Given the description of an element on the screen output the (x, y) to click on. 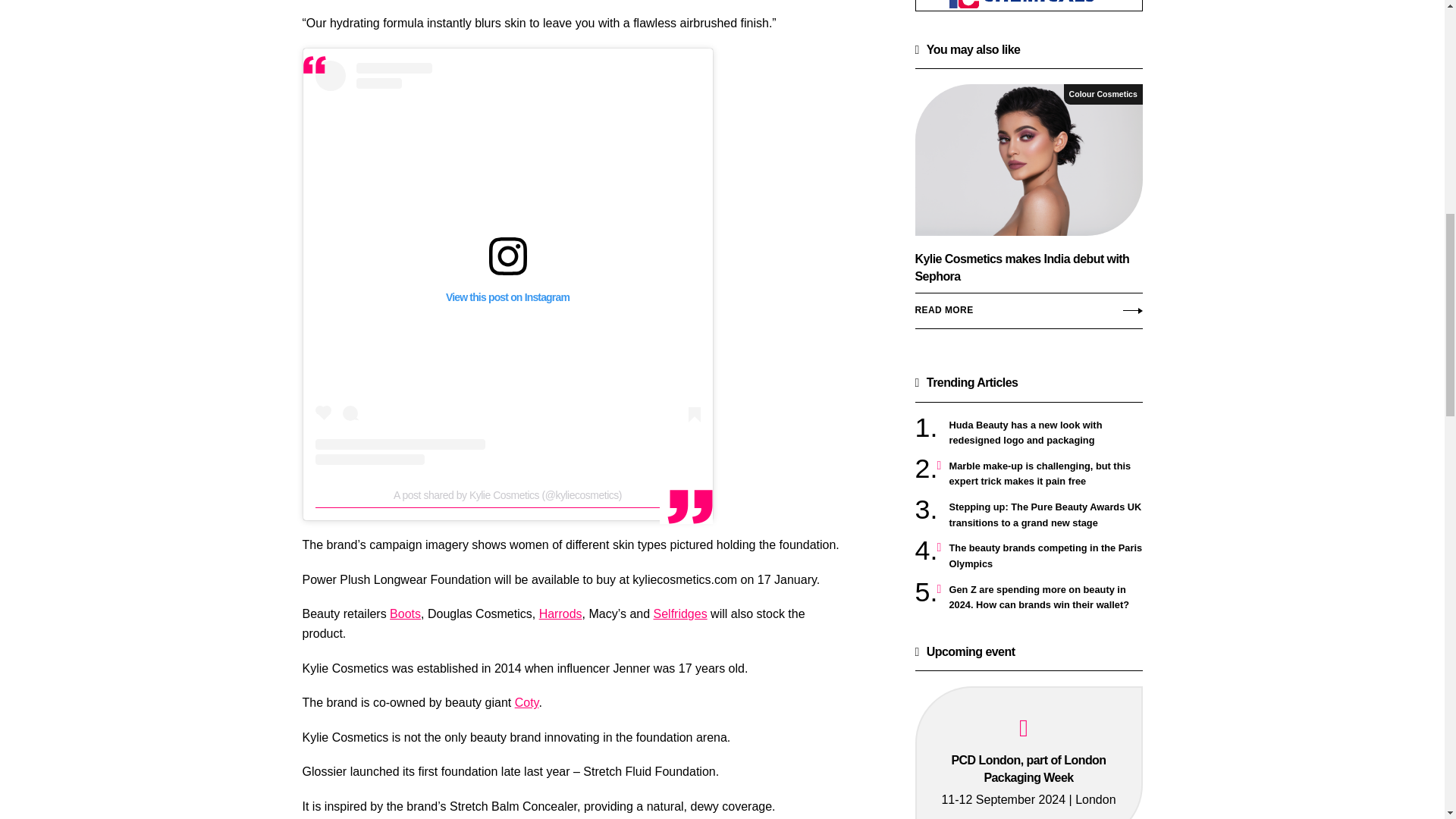
Selfridges (680, 613)
Coty (526, 702)
Harrods (560, 613)
Boots (405, 613)
